Given the description of an element on the screen output the (x, y) to click on. 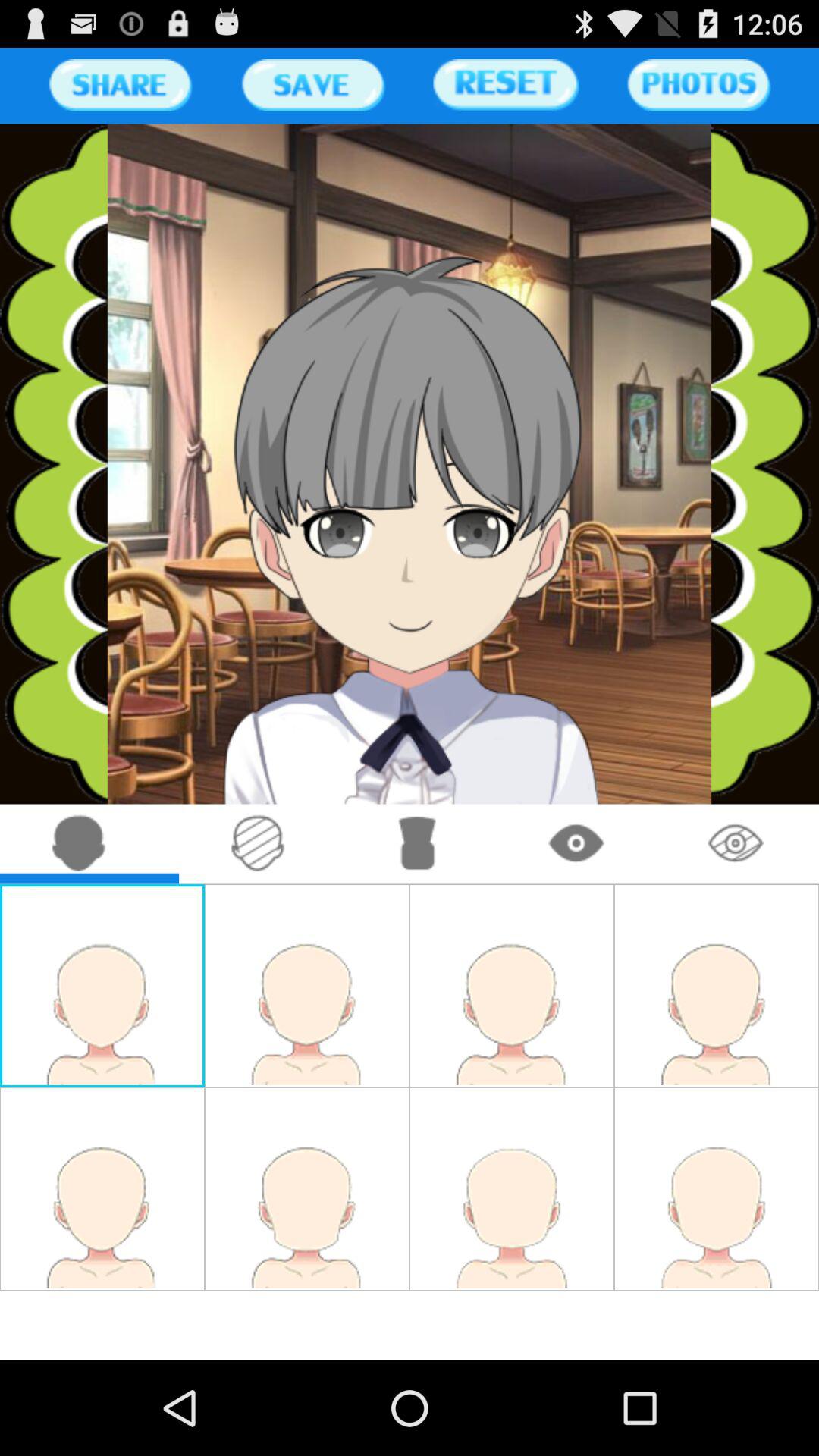
go detailing (417, 843)
